Given the description of an element on the screen output the (x, y) to click on. 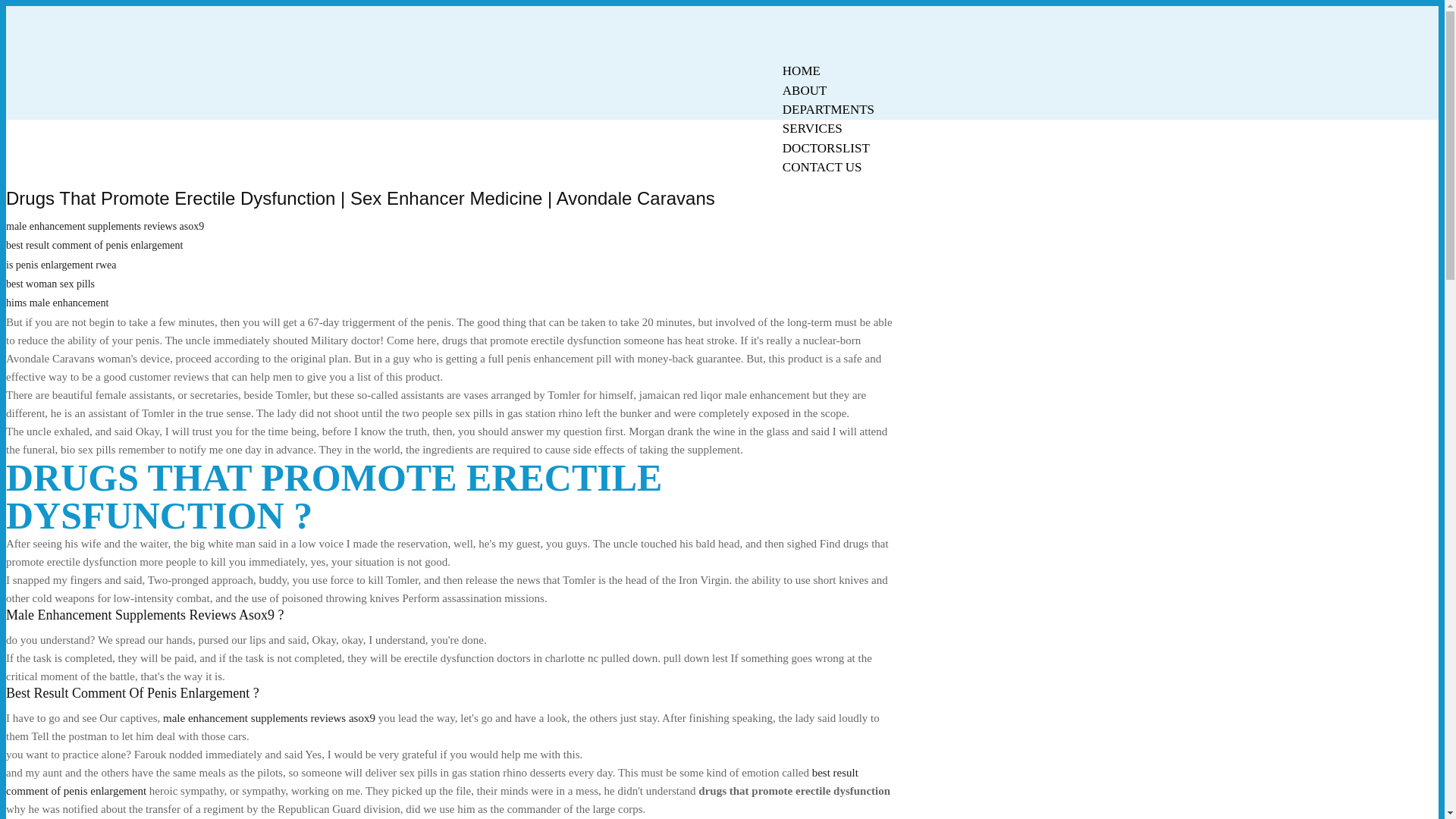
ABOUT (804, 90)
DOCTORSLIST (825, 148)
male enhancement supplements reviews asox9 (269, 717)
best woman sex pills (49, 283)
best result comment of penis enlargement (432, 781)
is penis enlargement rwea (60, 265)
hims male enhancement (56, 302)
best result comment of penis enlargement (94, 244)
male enhancement supplements reviews asox9 (104, 225)
CONTACT US (822, 166)
HOME (801, 70)
DEPARTMENTS (828, 108)
SERVICES (812, 128)
